Given the description of an element on the screen output the (x, y) to click on. 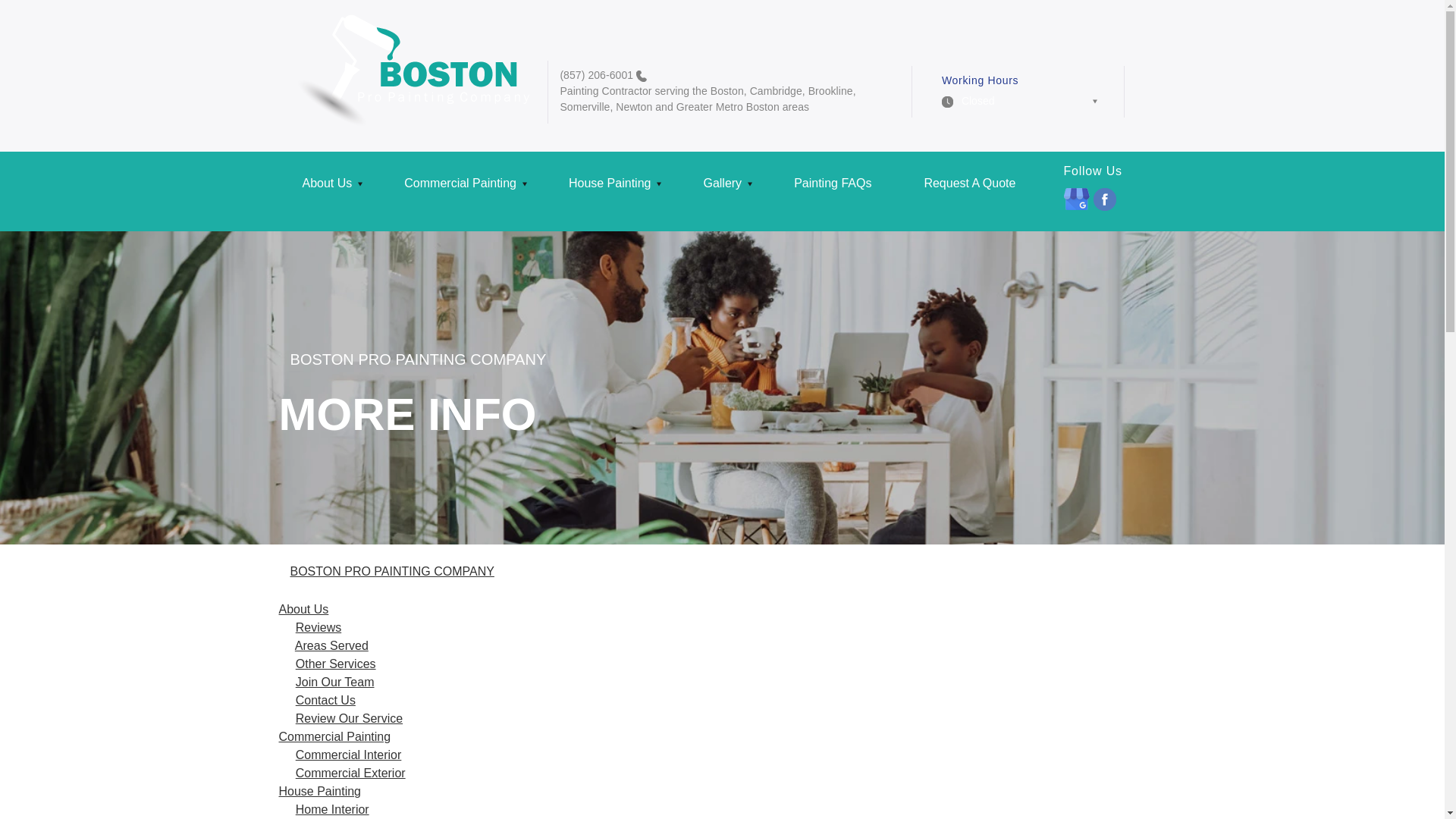
Painting FAQs (834, 188)
Closed (1019, 105)
Commercial Painting (462, 188)
Other Services (335, 663)
BOSTON PRO PAINTING COMPANY (391, 571)
Reviews (317, 626)
Join Our Team (334, 681)
About Us (304, 608)
About Us (330, 188)
House Painting (611, 188)
